Given the description of an element on the screen output the (x, y) to click on. 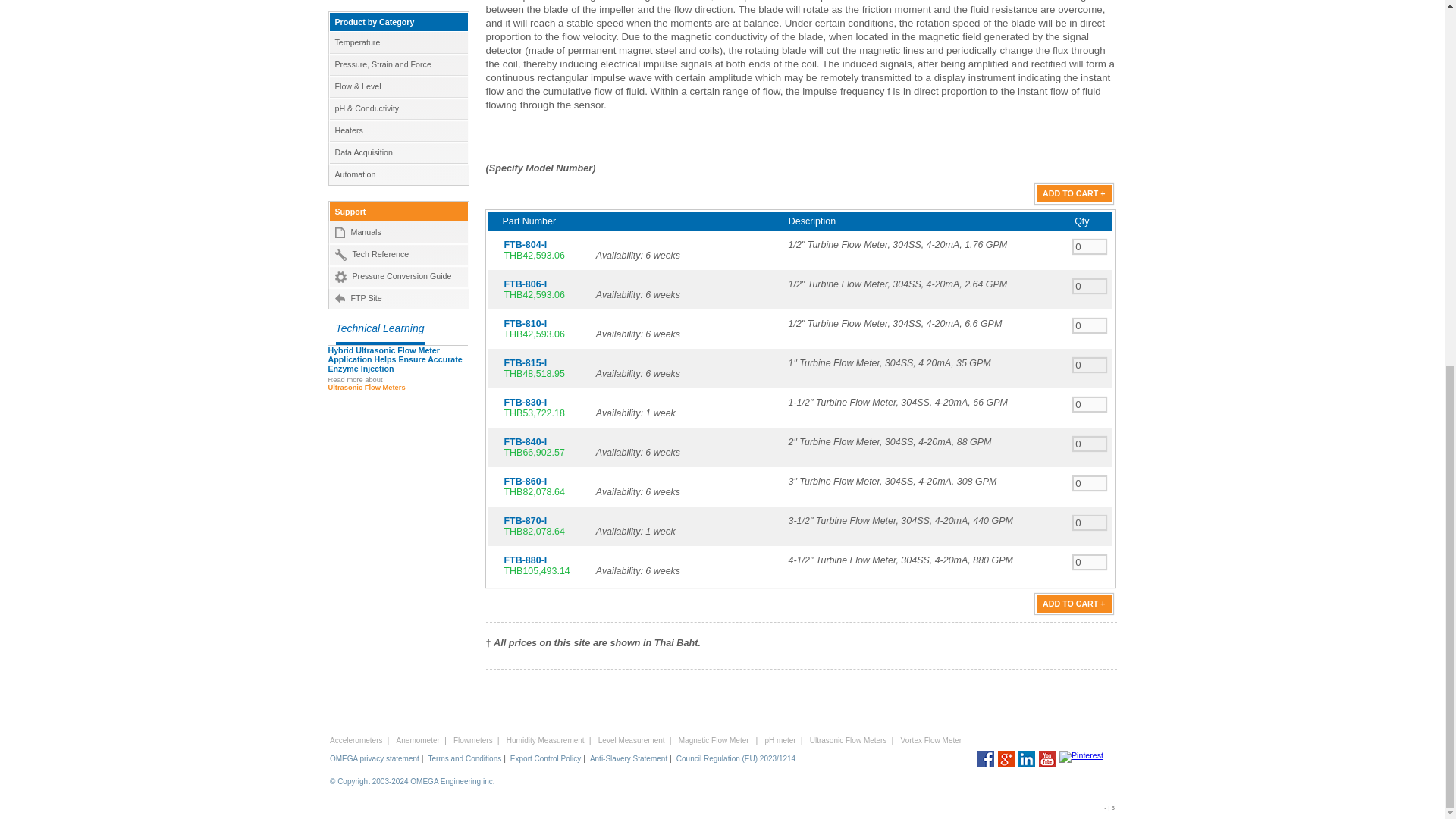
0 (1089, 522)
0 (1089, 286)
0 (1089, 364)
0 (1089, 246)
0 (1089, 443)
0 (1089, 562)
0 (1089, 325)
0 (1089, 482)
0 (1089, 404)
